Given the description of an element on the screen output the (x, y) to click on. 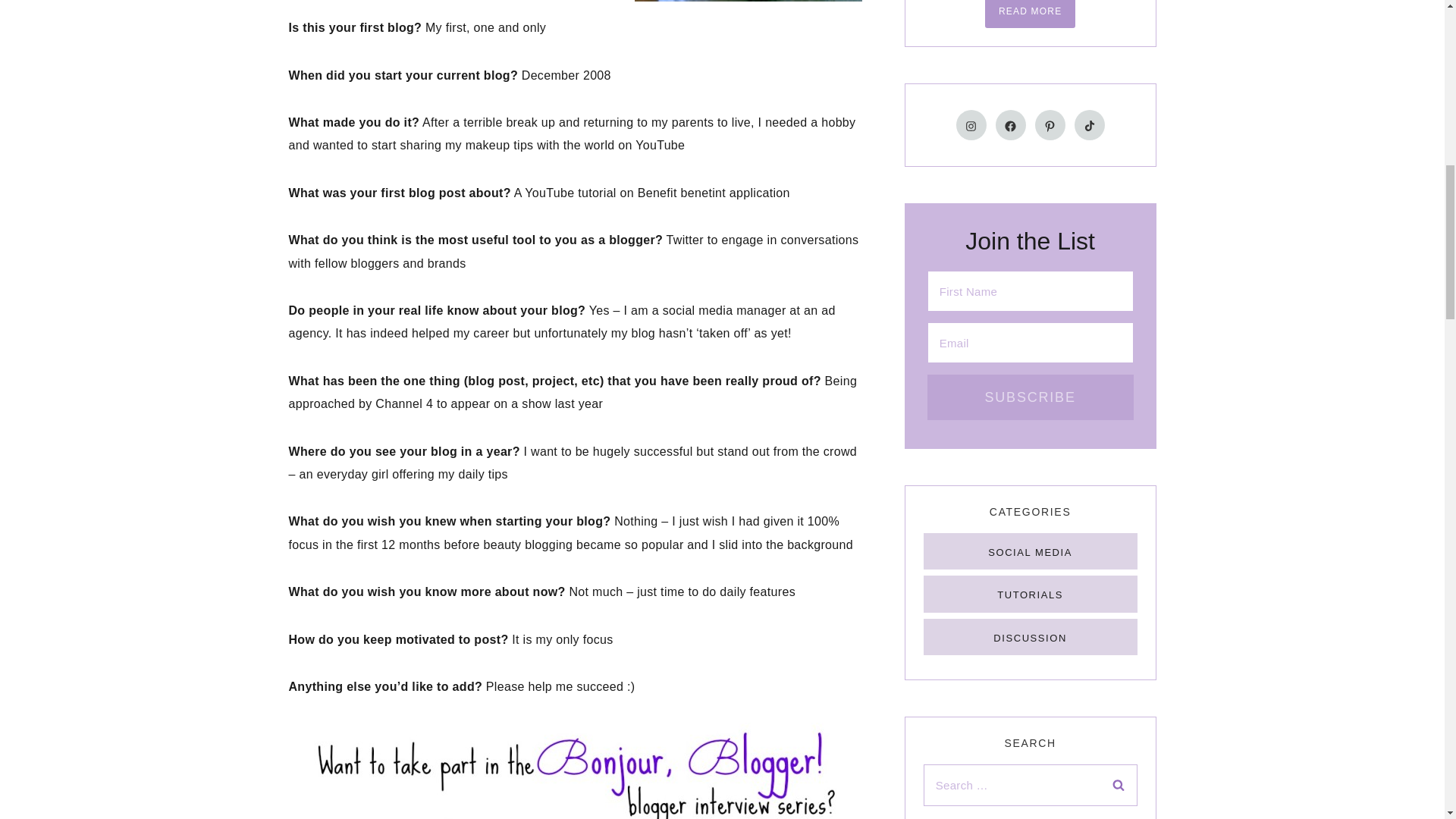
Search (1118, 784)
Search (1118, 784)
Subscribe (1030, 397)
